Given the description of an element on the screen output the (x, y) to click on. 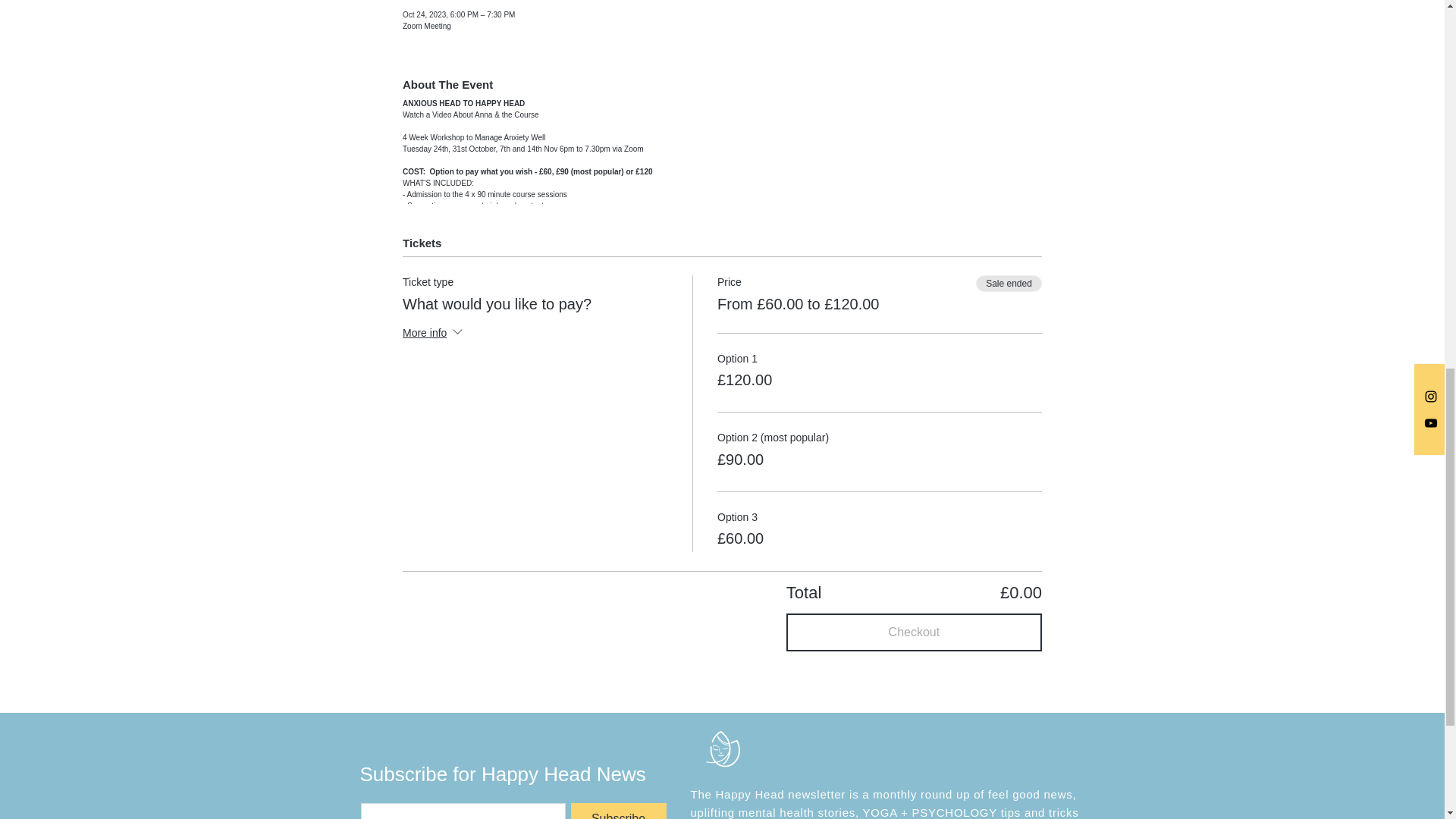
Checkout (914, 632)
More info (434, 333)
Subscribe (617, 811)
